Given the description of an element on the screen output the (x, y) to click on. 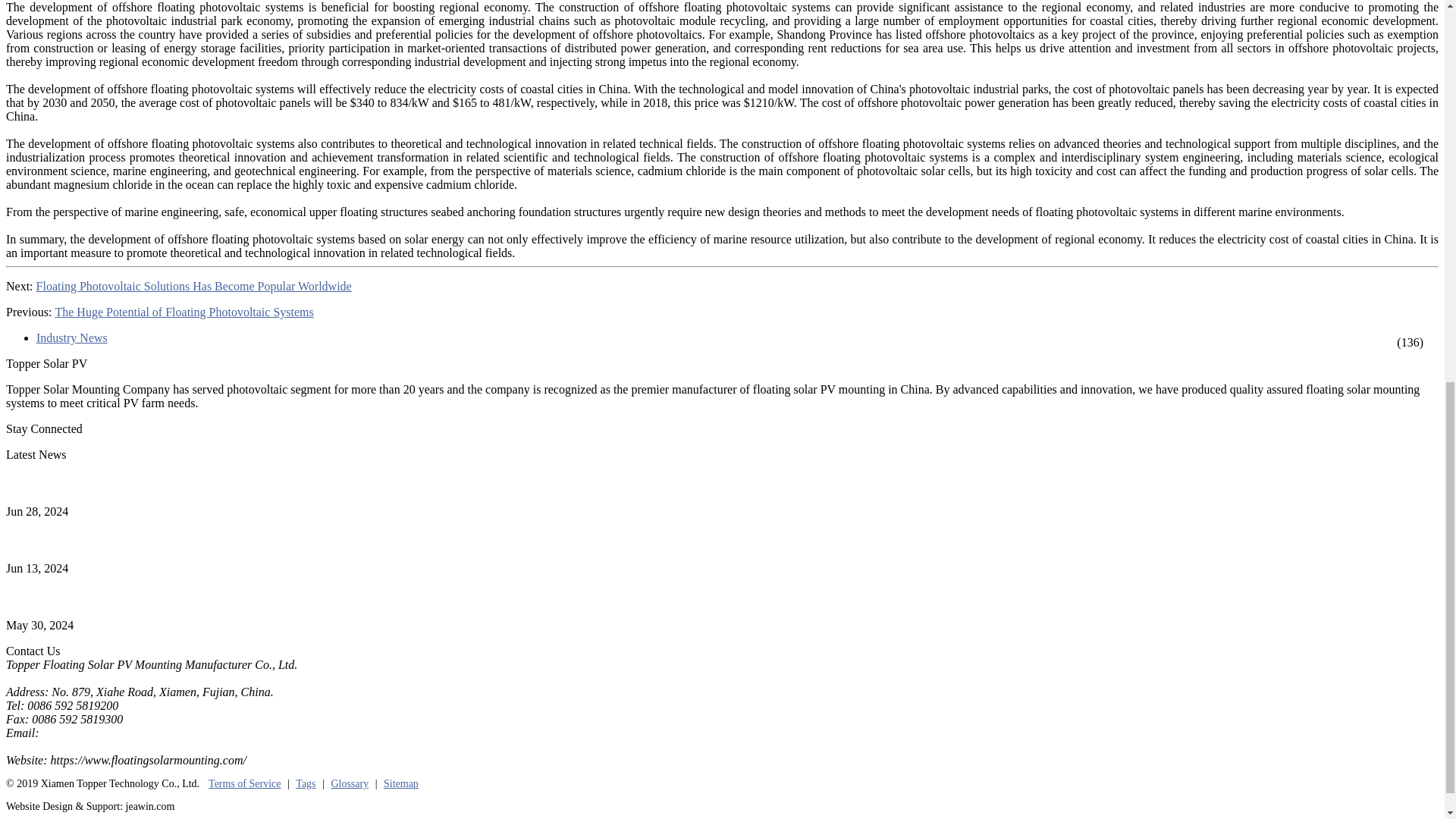
China Created A New Floating Photovoltaic System (132, 597)
Sitemap (401, 784)
Floating Photovoltaic Solutions Has Become Popular Worldwide (194, 286)
Tags (305, 784)
Terms of Service (244, 784)
The Huge Potential of Floating Photovoltaic Systems (184, 312)
Industry News (90, 337)
Highly Reliable Floating PV Solutions Are Being Developed (153, 483)
Glossary (349, 784)
The Huge Potential of Floating Photovoltaic Systems (184, 312)
The Southeast Asia's Largest Floating Photovoltaic System (148, 539)
